Given the description of an element on the screen output the (x, y) to click on. 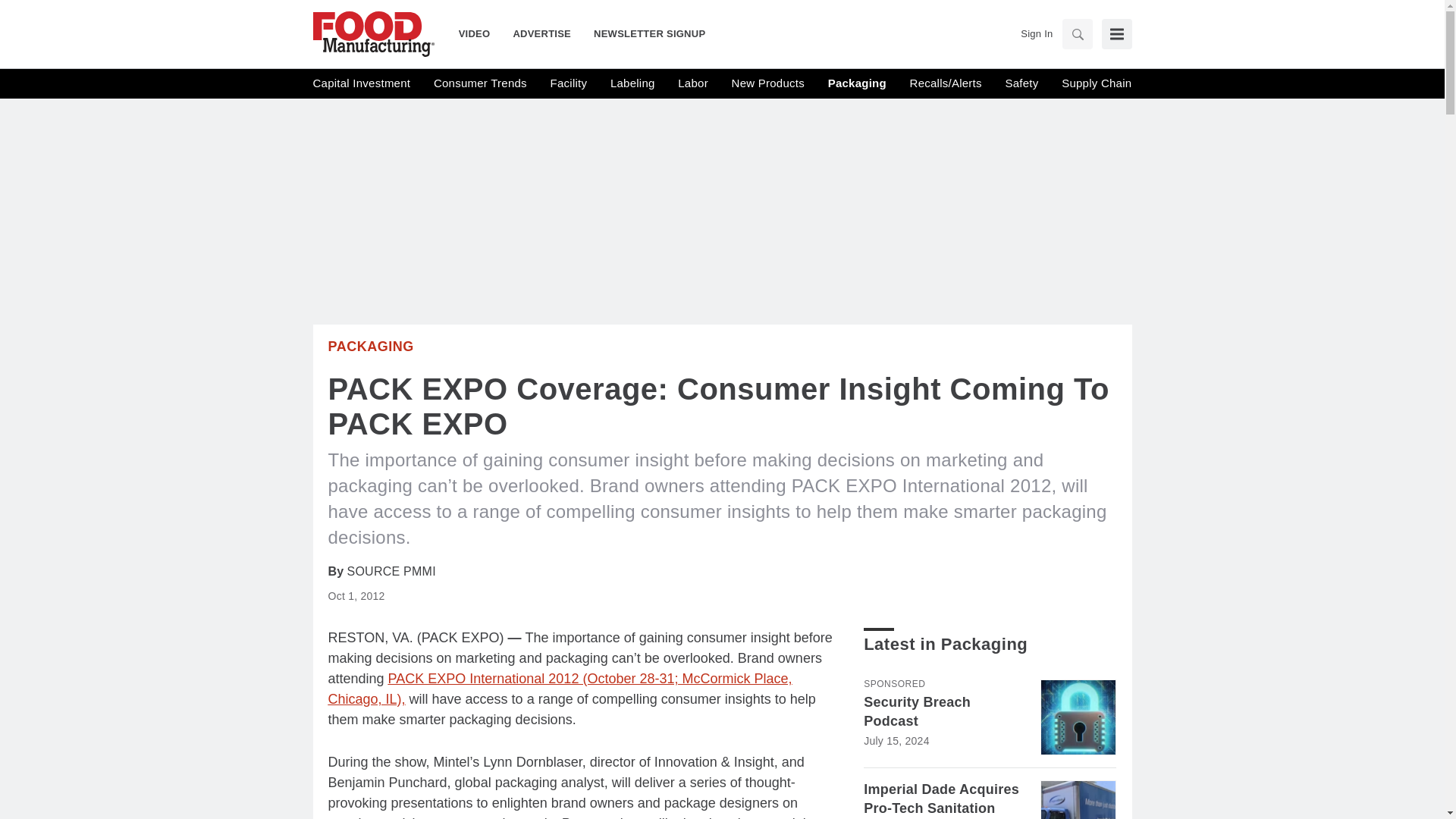
Sponsored (893, 683)
Safety (1021, 83)
Capital Investment (361, 83)
Sign In (1036, 33)
VIDEO (480, 33)
Labeling (632, 83)
Packaging (857, 83)
Consumer Trends (480, 83)
New Products (768, 83)
ADVERTISE (541, 33)
NEWSLETTER SIGNUP (643, 33)
Packaging (370, 346)
Supply Chain (1096, 83)
Facility (569, 83)
Labor (692, 83)
